Given the description of an element on the screen output the (x, y) to click on. 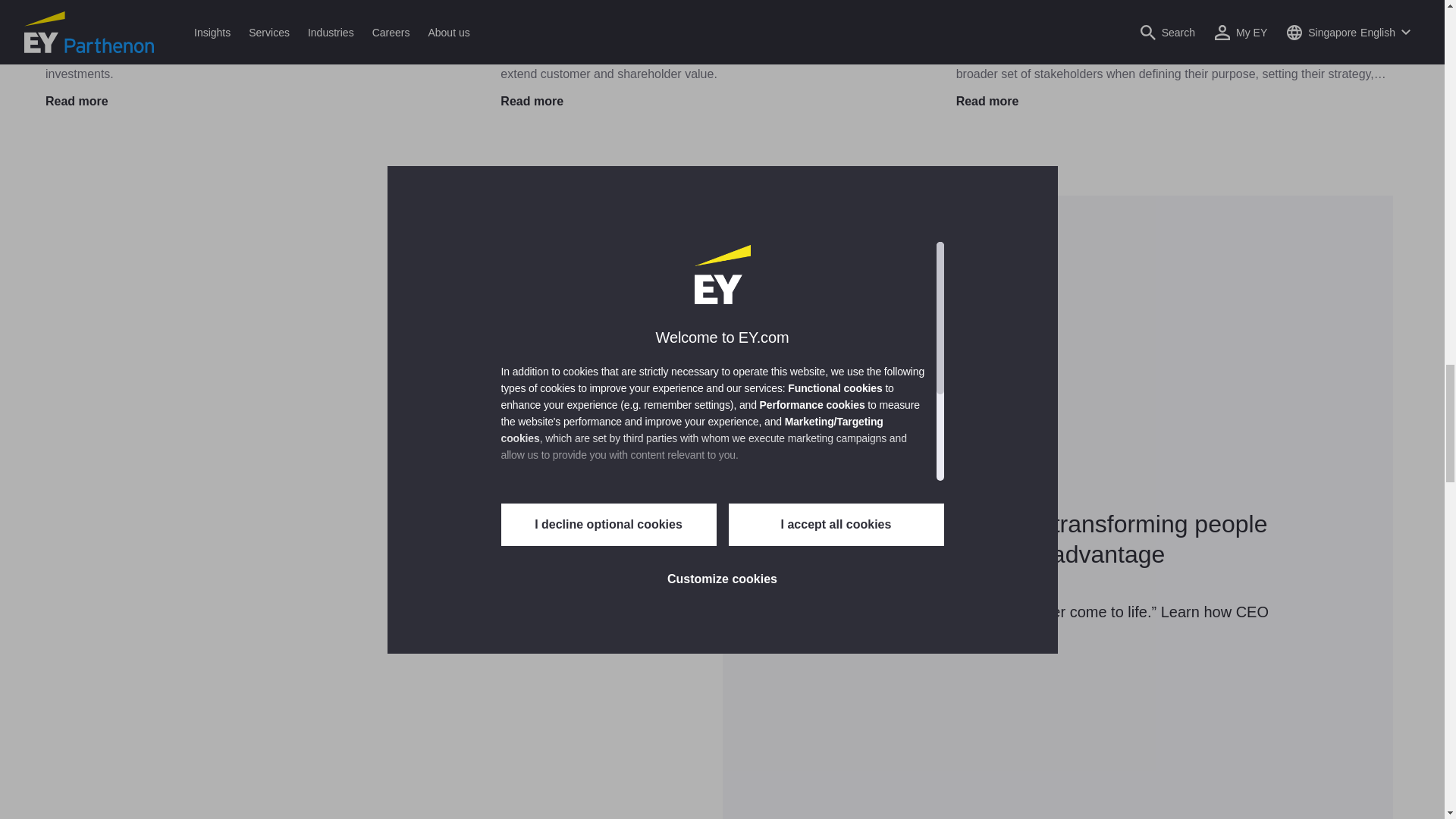
Play Video (385, 577)
